Given the description of an element on the screen output the (x, y) to click on. 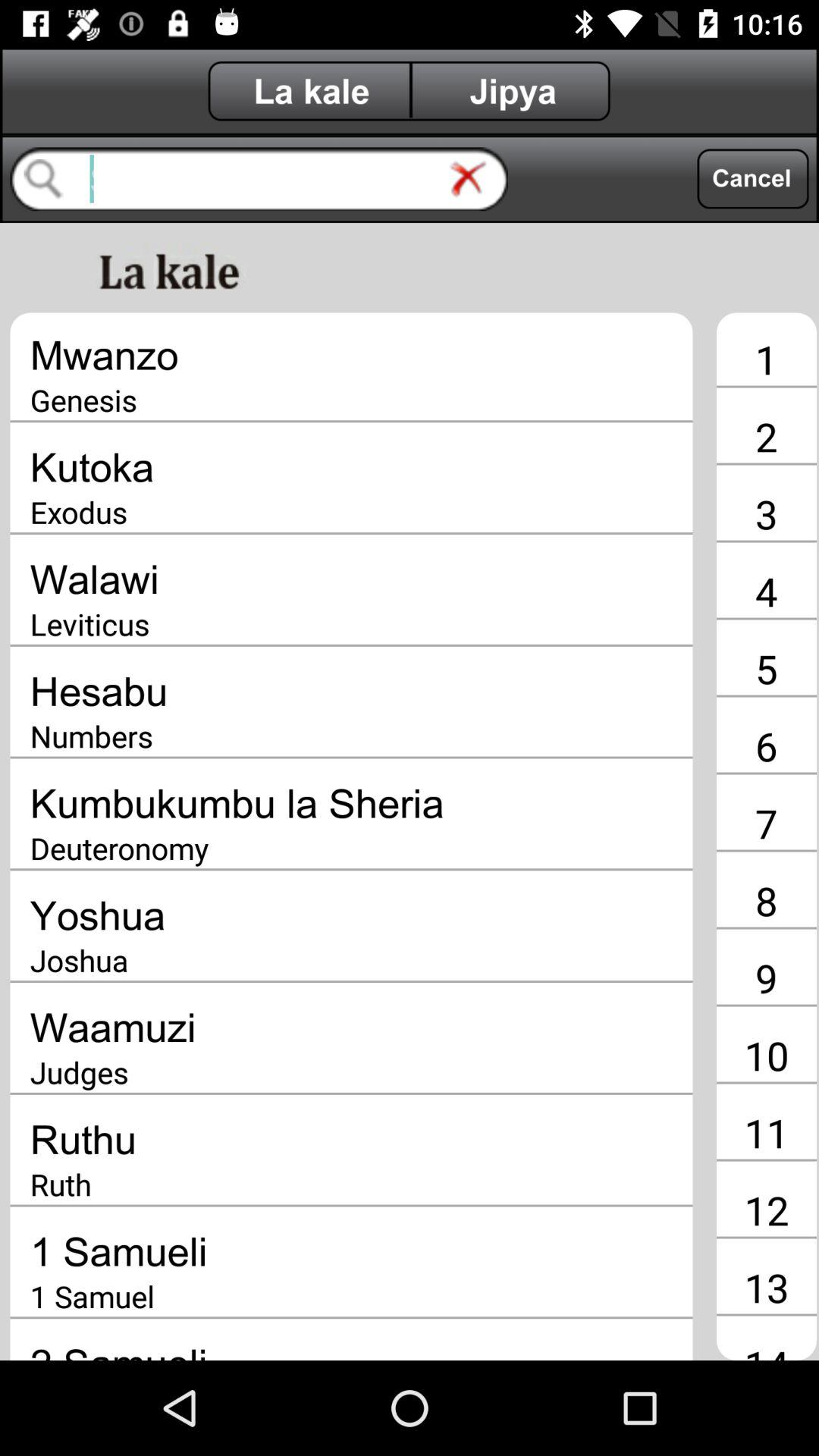
flip until 5 (766, 668)
